Given the description of an element on the screen output the (x, y) to click on. 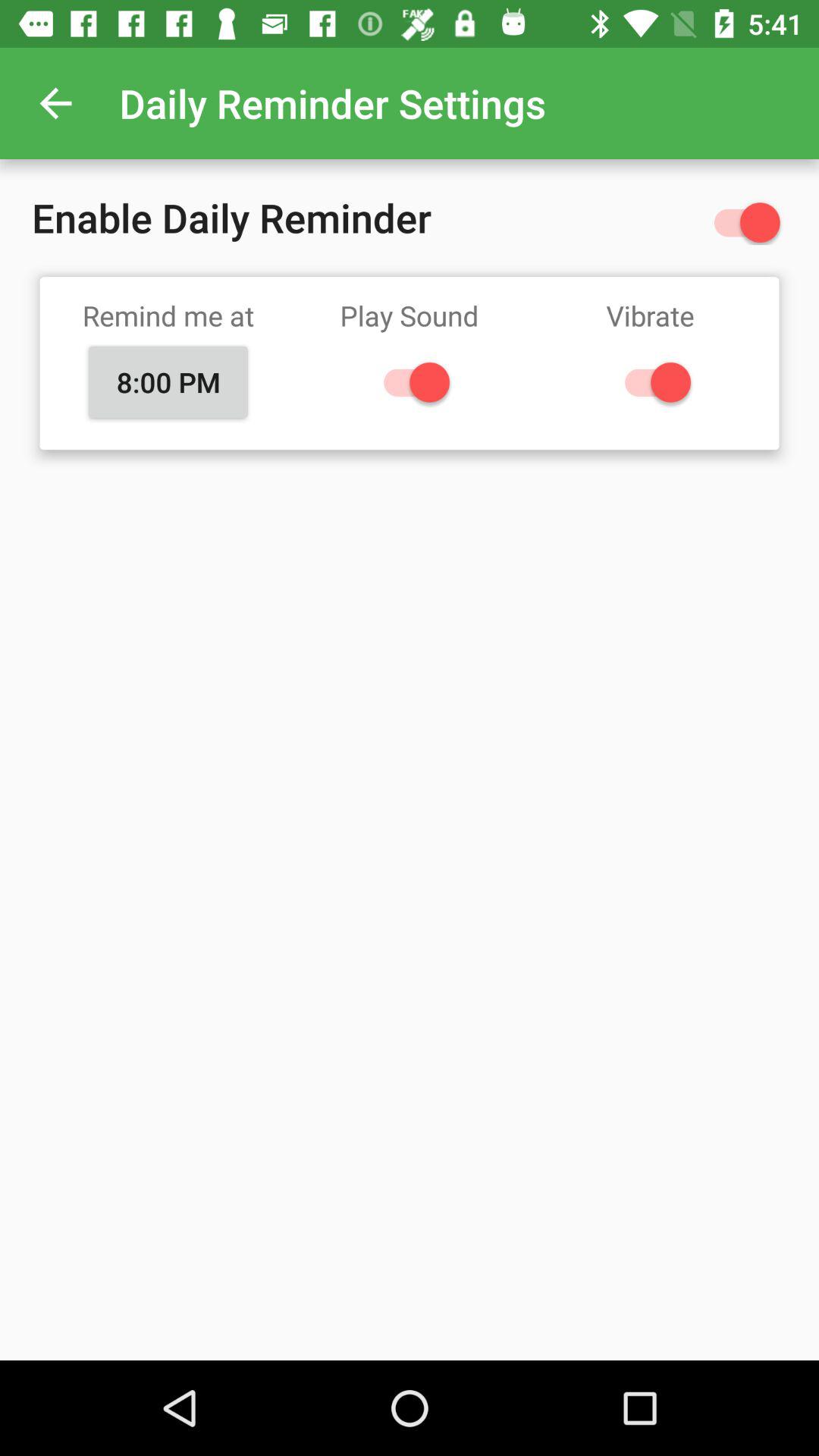
launch the icon above enable daily reminder icon (55, 103)
